Given the description of an element on the screen output the (x, y) to click on. 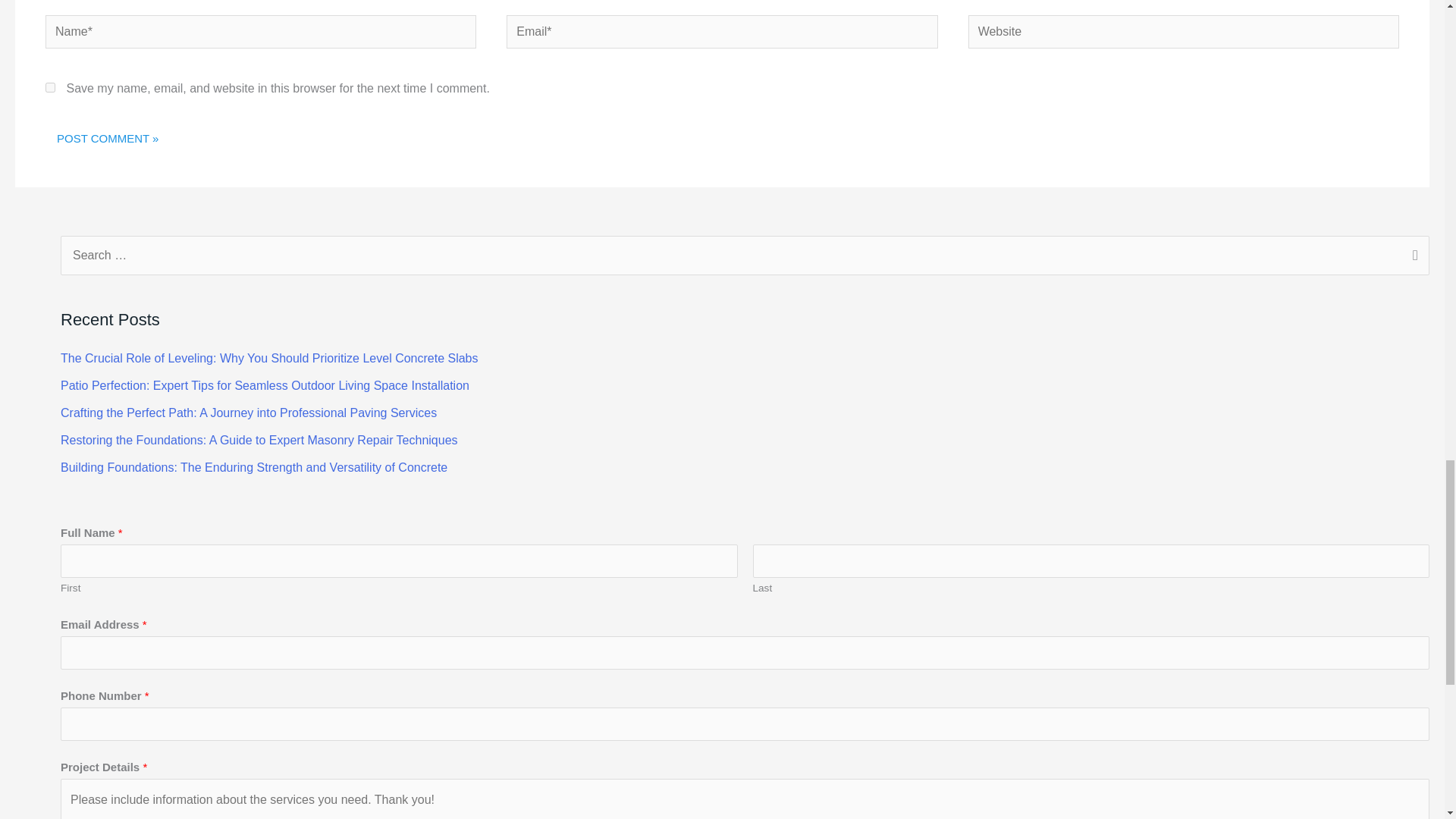
yes (50, 87)
